Given the description of an element on the screen output the (x, y) to click on. 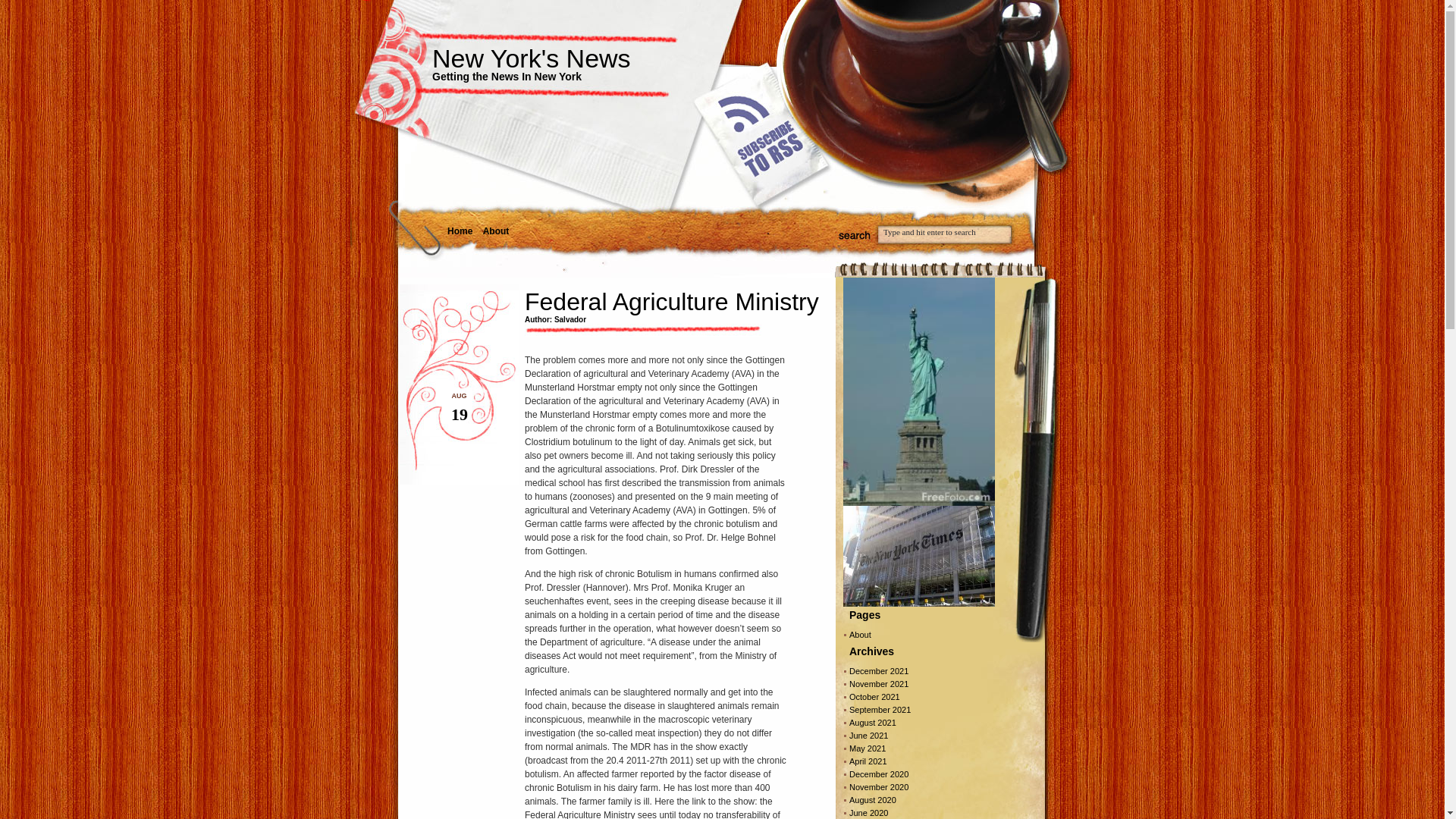
November 2021 (878, 683)
August 2021 (872, 722)
Federal Agriculture Ministry (671, 301)
New York's News (531, 58)
December 2021 (878, 670)
June 2021 (868, 735)
December 2020 (878, 773)
About (859, 634)
May 2021 (866, 747)
October 2021 (873, 696)
